Given the description of an element on the screen output the (x, y) to click on. 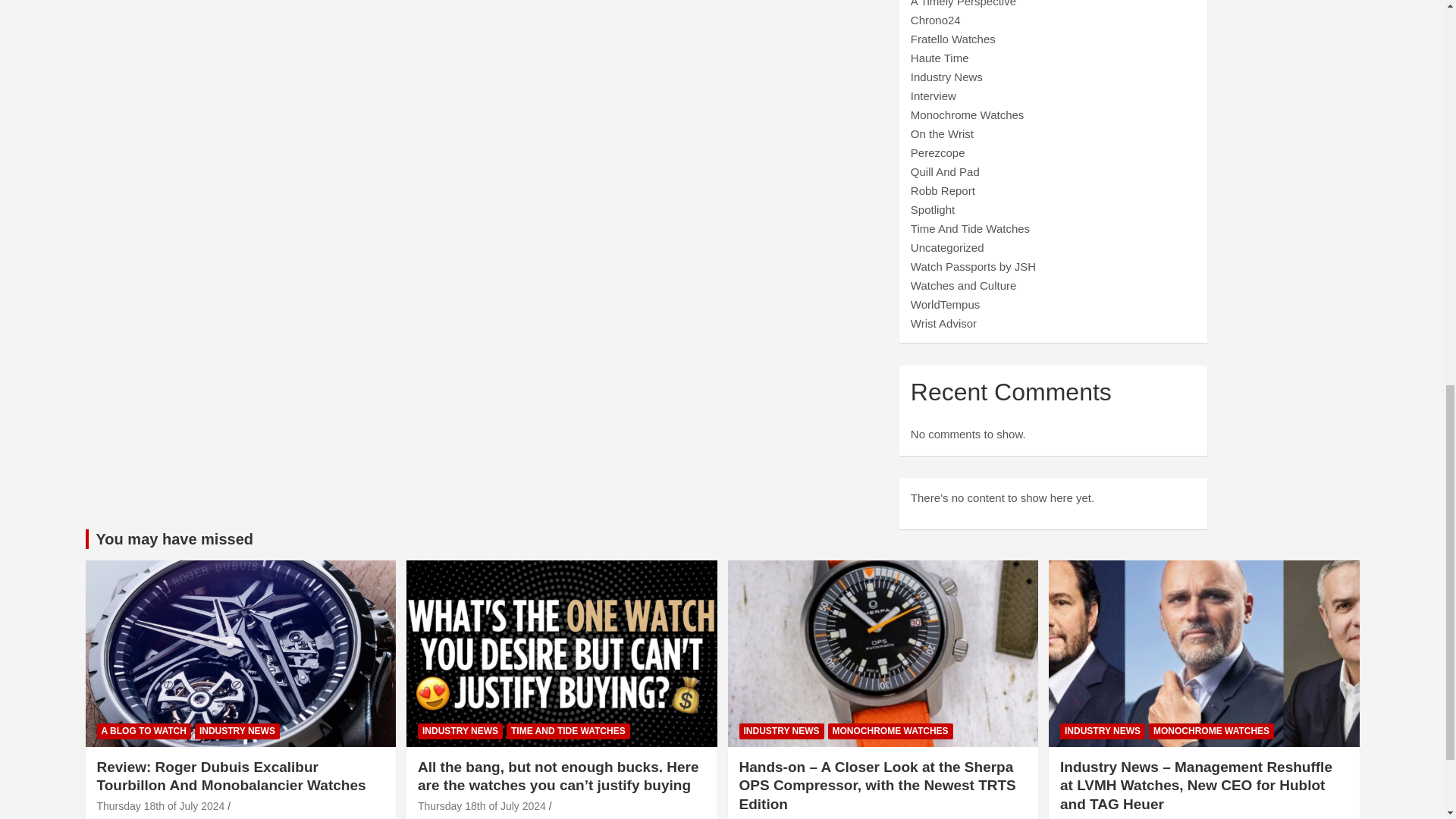
Chrono24 (935, 19)
Haute Time (940, 57)
Industry News (946, 76)
Interview (933, 95)
A Timely Perspective (963, 3)
Fratello Watches (953, 38)
